Given the description of an element on the screen output the (x, y) to click on. 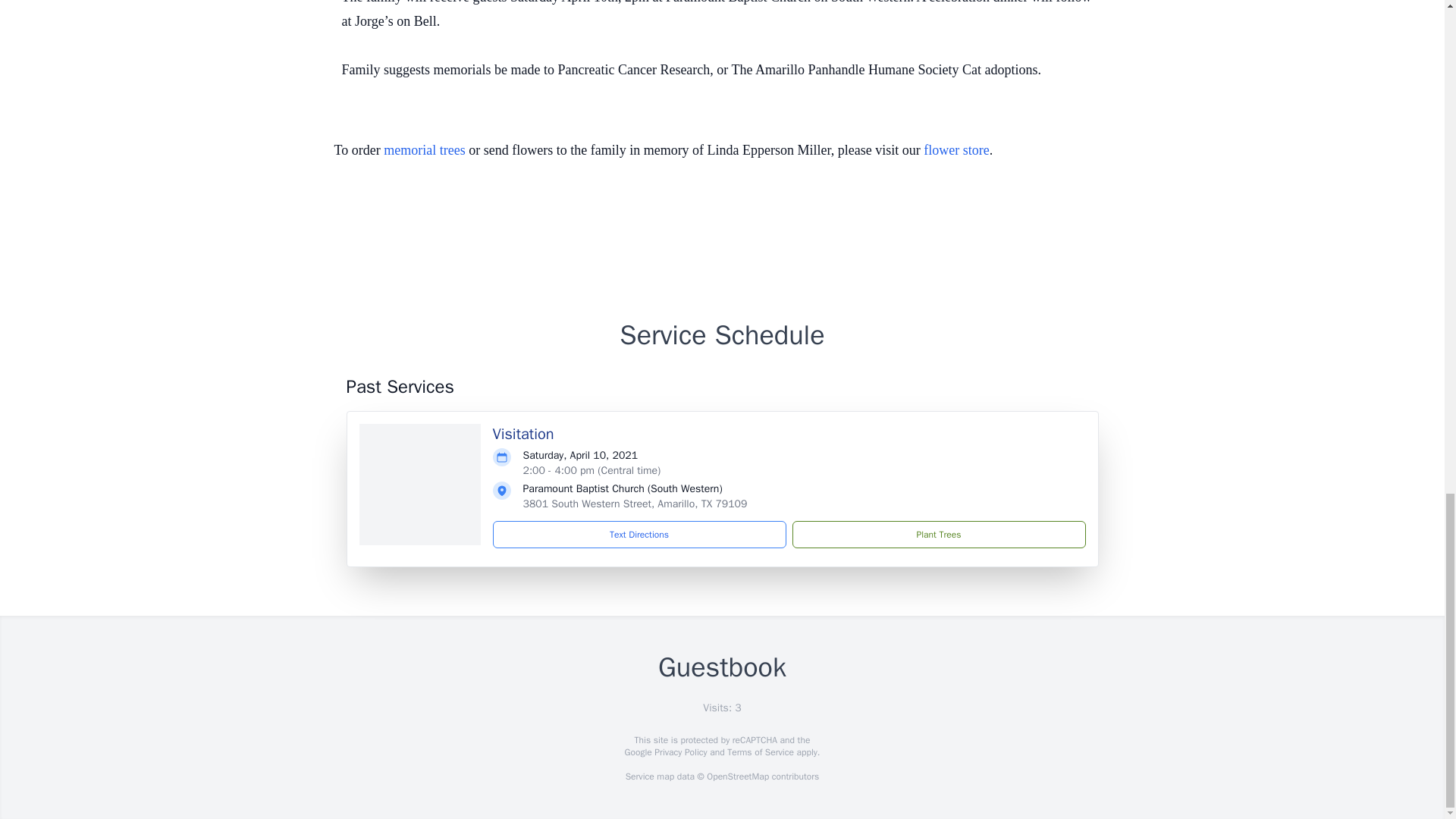
Plant Trees (938, 533)
Text Directions (639, 533)
Privacy Policy (679, 752)
OpenStreetMap (737, 776)
memorial trees (424, 150)
Terms of Service (759, 752)
flower store (955, 150)
3801 South Western Street, Amarillo, TX 79109 (635, 503)
